Given the description of an element on the screen output the (x, y) to click on. 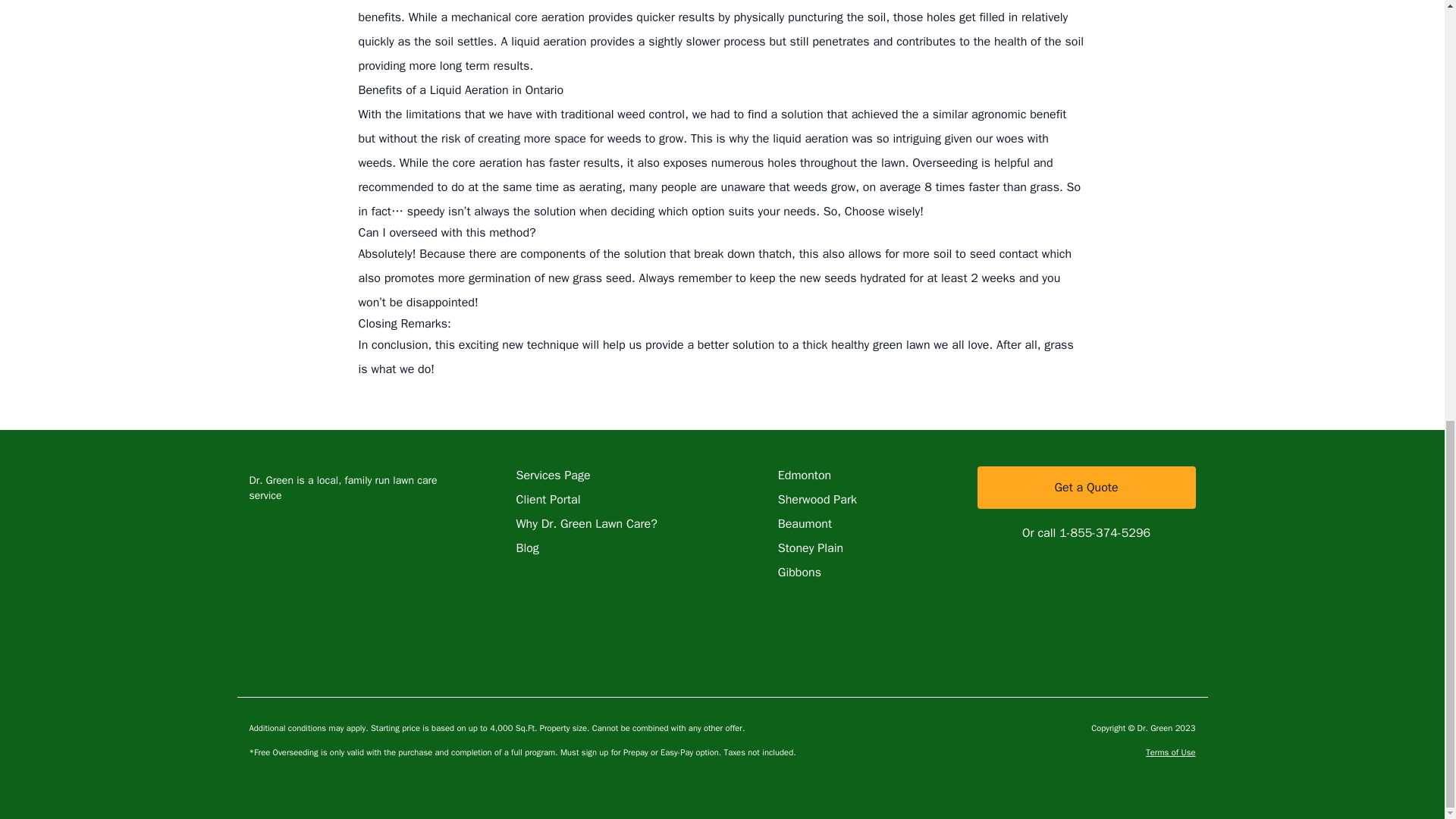
Services Page (552, 475)
Client Portal (547, 499)
Blog (526, 548)
Why Dr. Green Lawn Care? (585, 523)
Terms of Use (1170, 751)
Get a Quote (1086, 487)
